Given the description of an element on the screen output the (x, y) to click on. 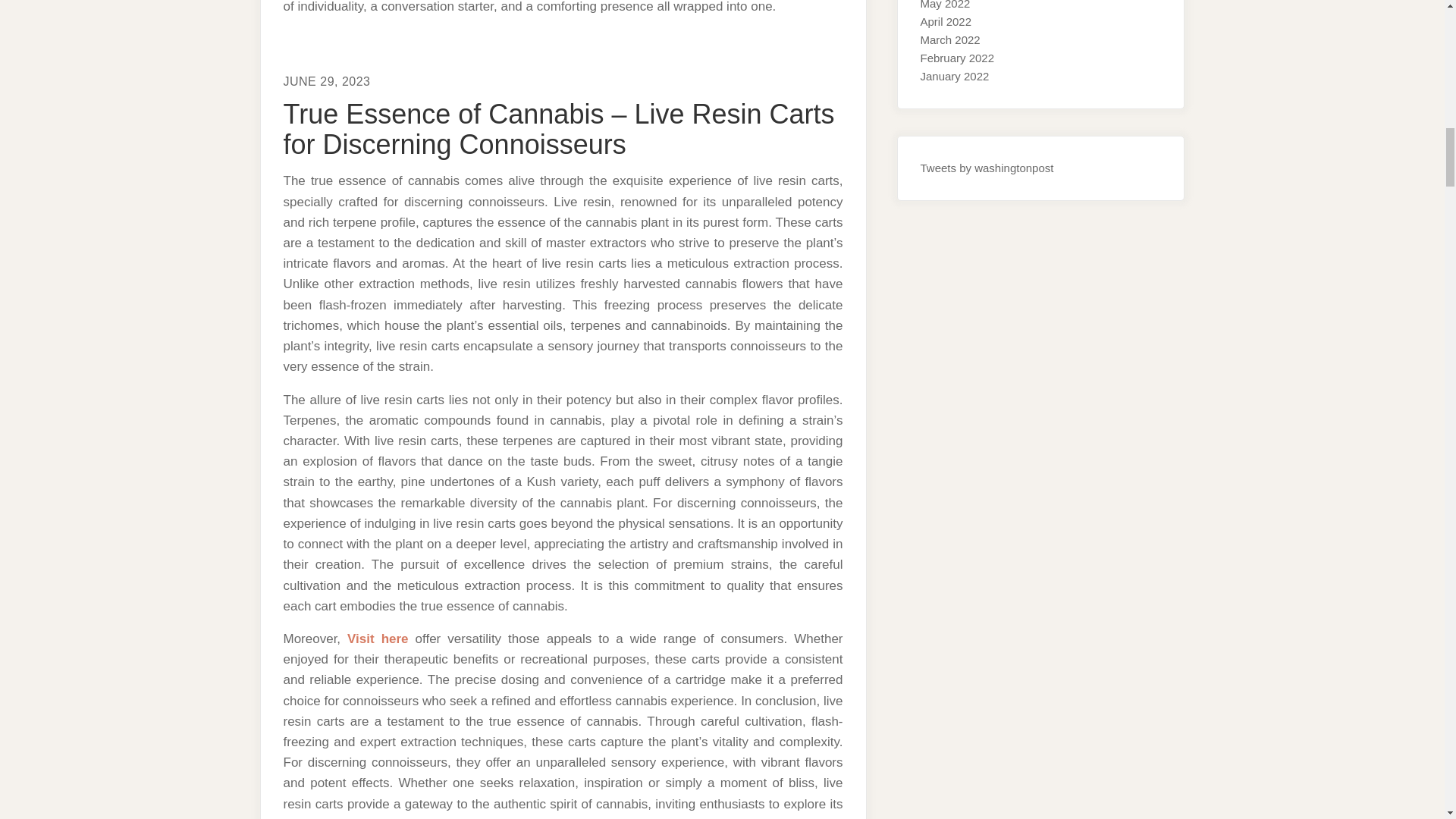
Visit here (378, 638)
JUNE 29, 2023 (327, 81)
